Given the description of an element on the screen output the (x, y) to click on. 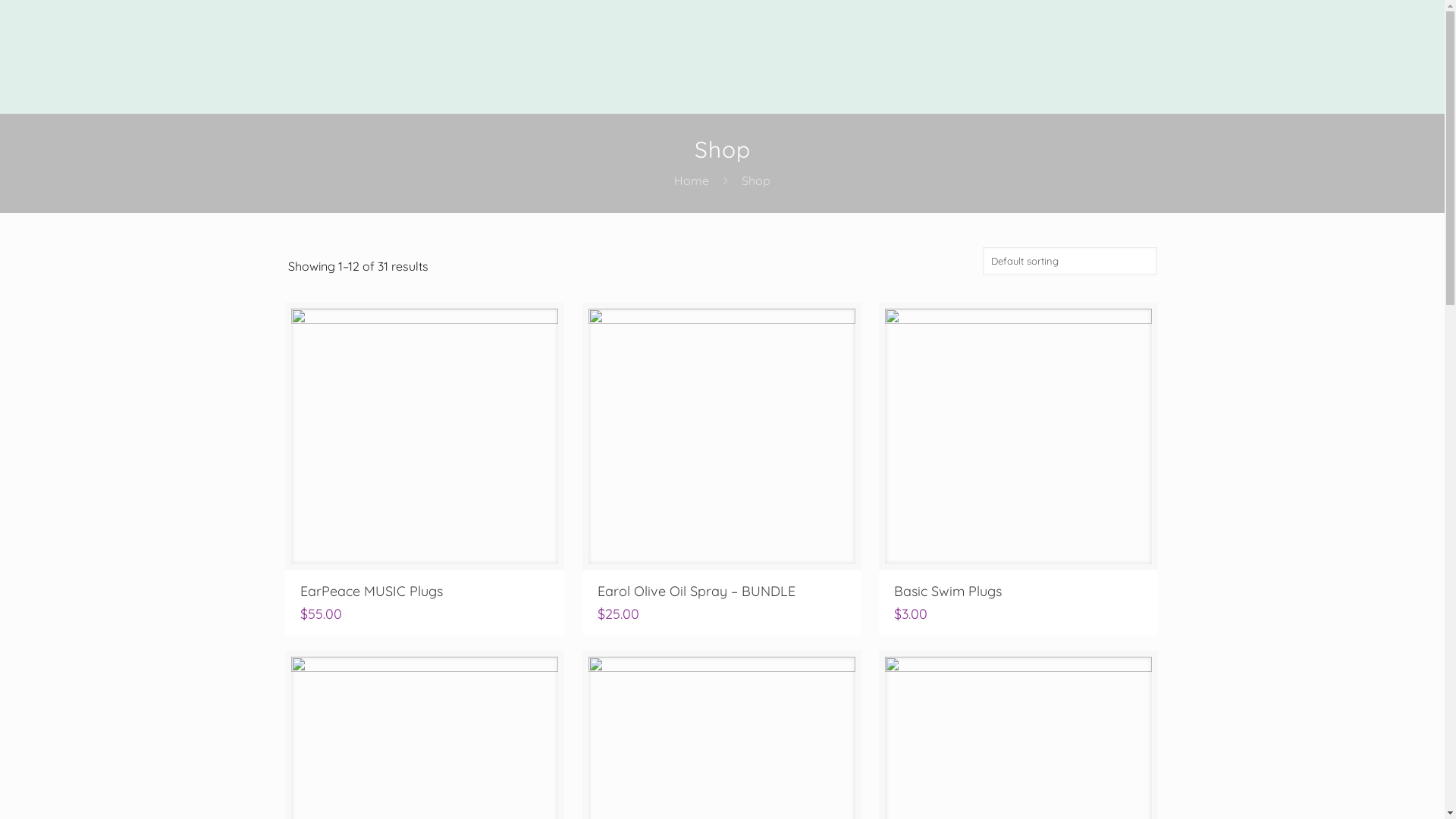
Home Element type: text (691, 180)
Basic Swim Plugs Element type: text (947, 590)
EarPeace MUSIC Plugs Element type: text (371, 590)
